Given the description of an element on the screen output the (x, y) to click on. 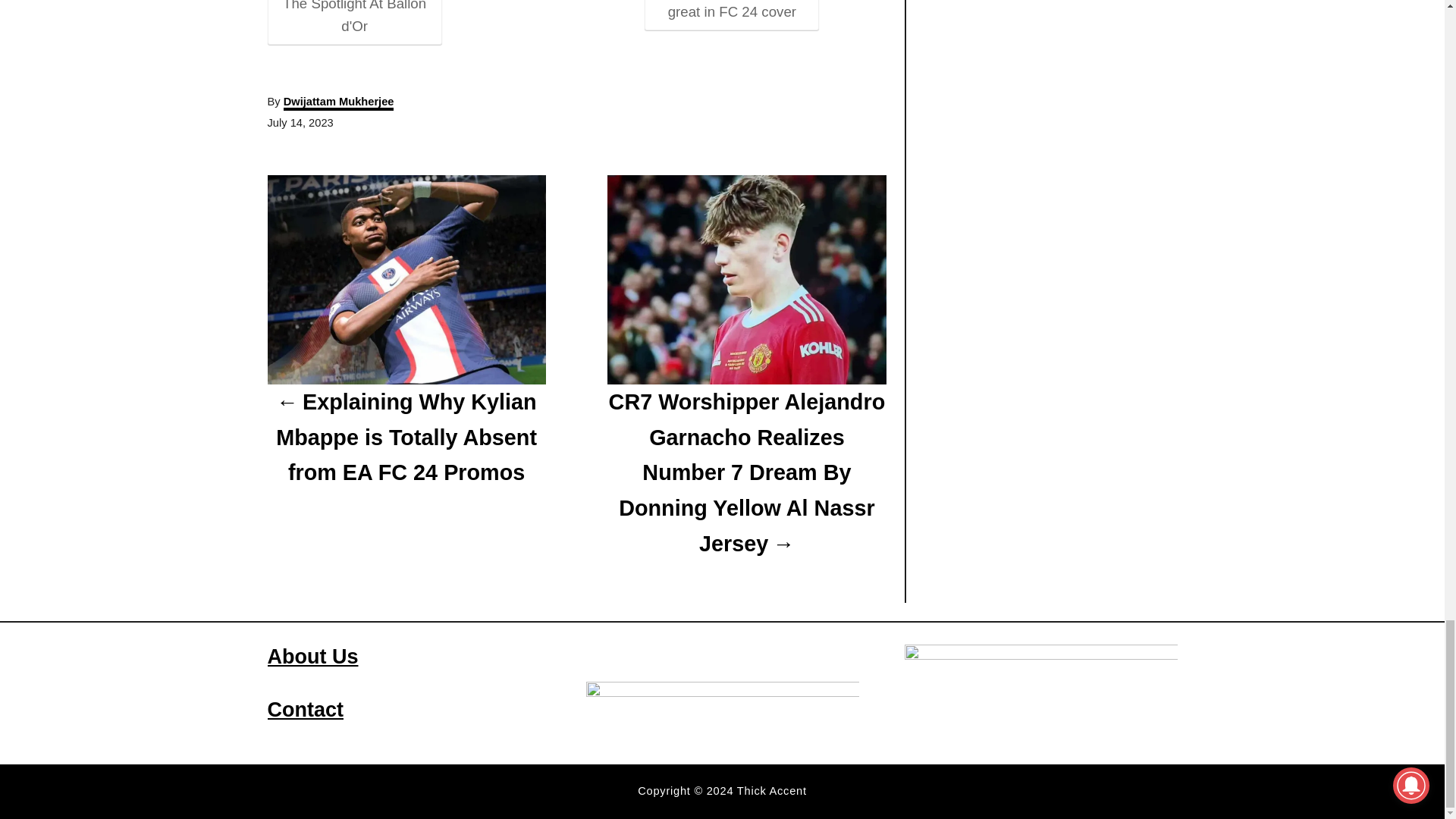
Dwijattam Mukherjee (338, 102)
Contact (304, 709)
About Us (312, 656)
